Given the description of an element on the screen output the (x, y) to click on. 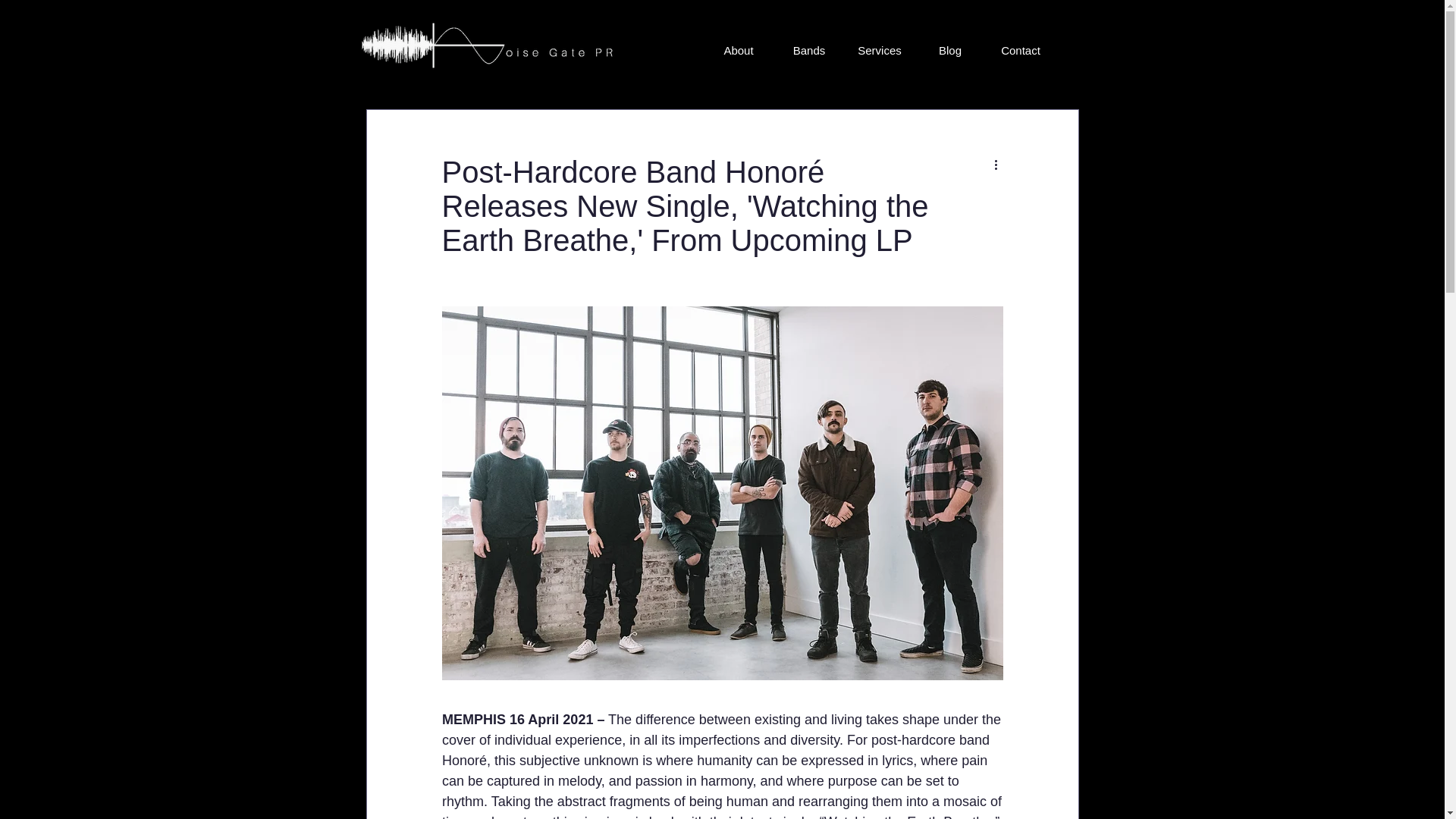
About (738, 50)
Blog (949, 50)
Bands (808, 50)
Contact (1021, 50)
Services (879, 50)
